Given the description of an element on the screen output the (x, y) to click on. 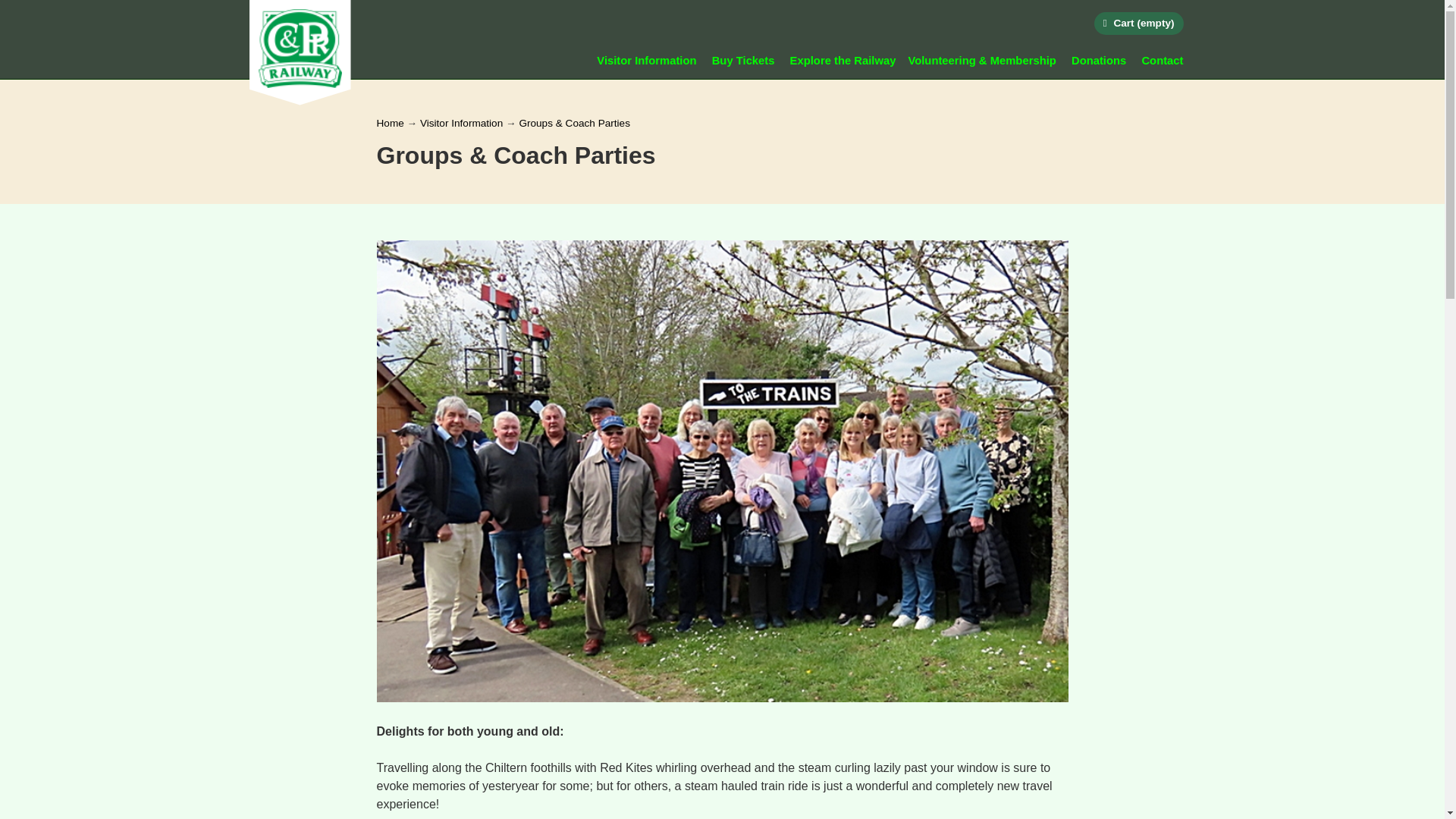
Visitor Information (646, 60)
Explore the Railway (843, 60)
Buy Tickets (743, 60)
